Given the description of an element on the screen output the (x, y) to click on. 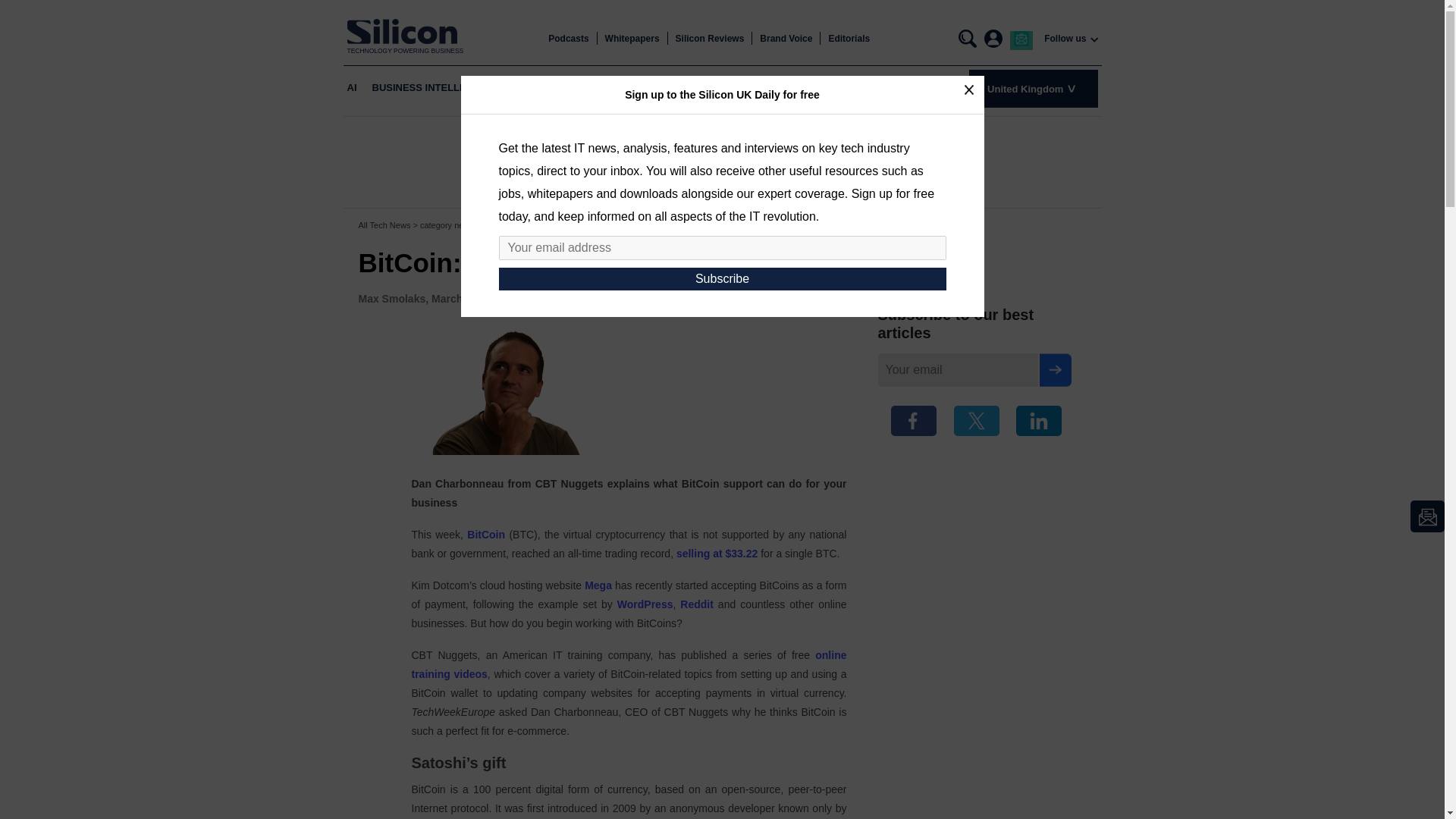
WordPress.com Welcomes BitCoin Payments (644, 604)
CLOUD (529, 87)
Bitcoin Training Series from CBT Nuggets (627, 664)
Silicon Reviews (709, 38)
BUSINESS INTELLIGENCE (434, 87)
Follow us (1064, 38)
MARKETING (782, 87)
Whitepapers (632, 38)
New Gold Payment Options: Bitcoin and Credit Card (696, 604)
United Kingdom (1033, 88)
